Given the description of an element on the screen output the (x, y) to click on. 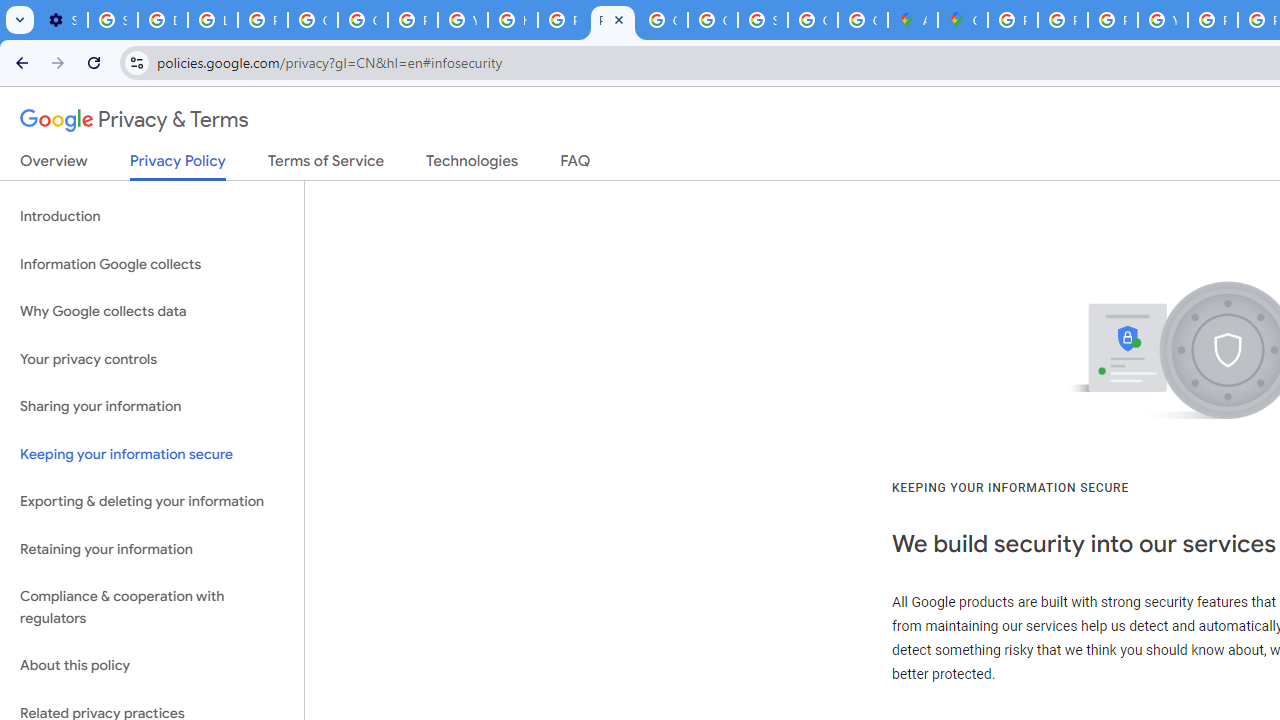
Privacy Help Center - Policies Help (1112, 20)
YouTube (1162, 20)
Introduction (152, 216)
About this policy (152, 666)
Terms of Service (326, 165)
Why Google collects data (152, 312)
Technologies (472, 165)
